Given the description of an element on the screen output the (x, y) to click on. 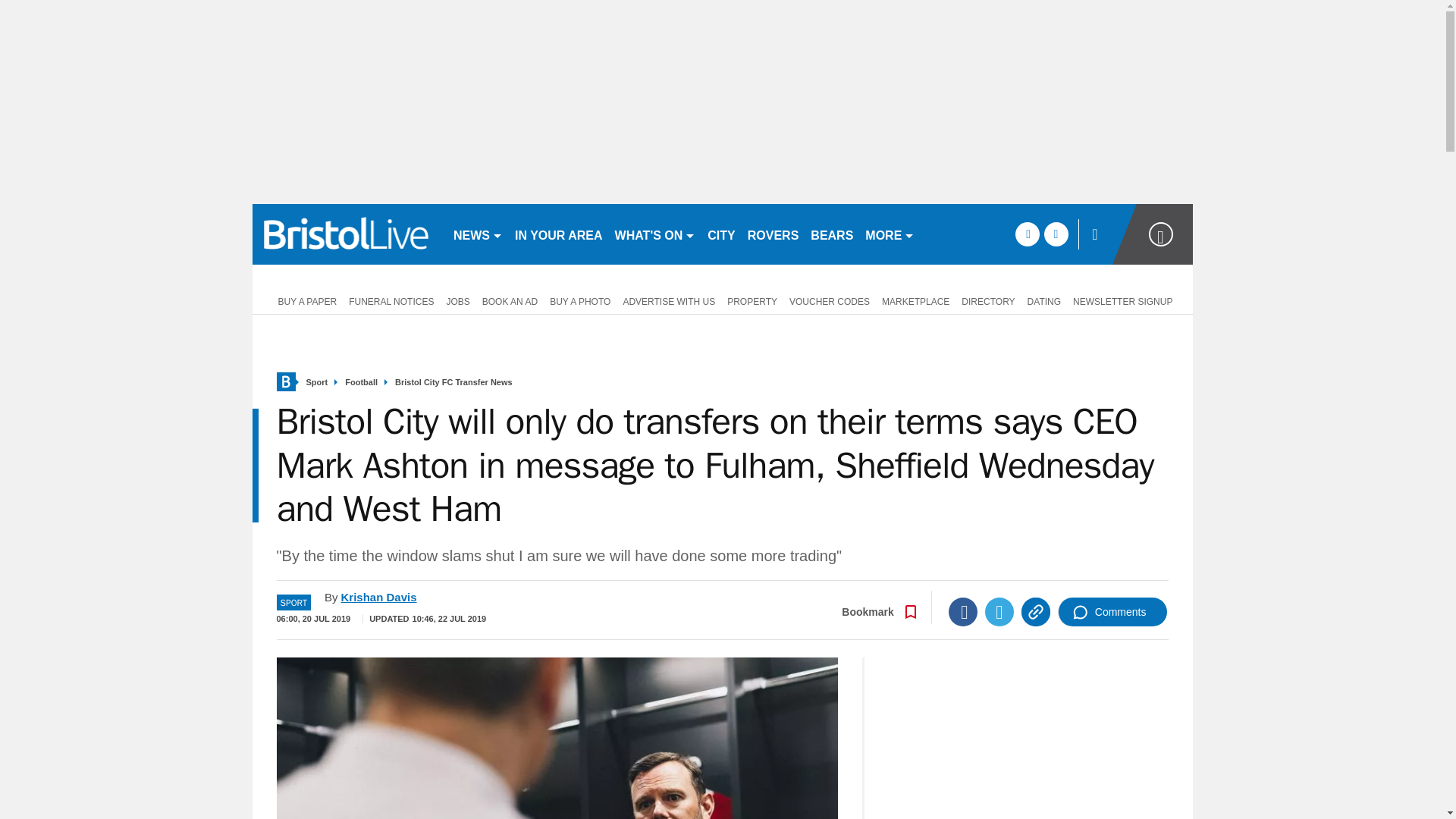
ROVERS (773, 233)
Twitter (999, 611)
BEARS (832, 233)
twitter (1055, 233)
WHAT'S ON (654, 233)
NEWS (477, 233)
Comments (1112, 611)
facebook (1026, 233)
IN YOUR AREA (558, 233)
MORE (889, 233)
